Given the description of an element on the screen output the (x, y) to click on. 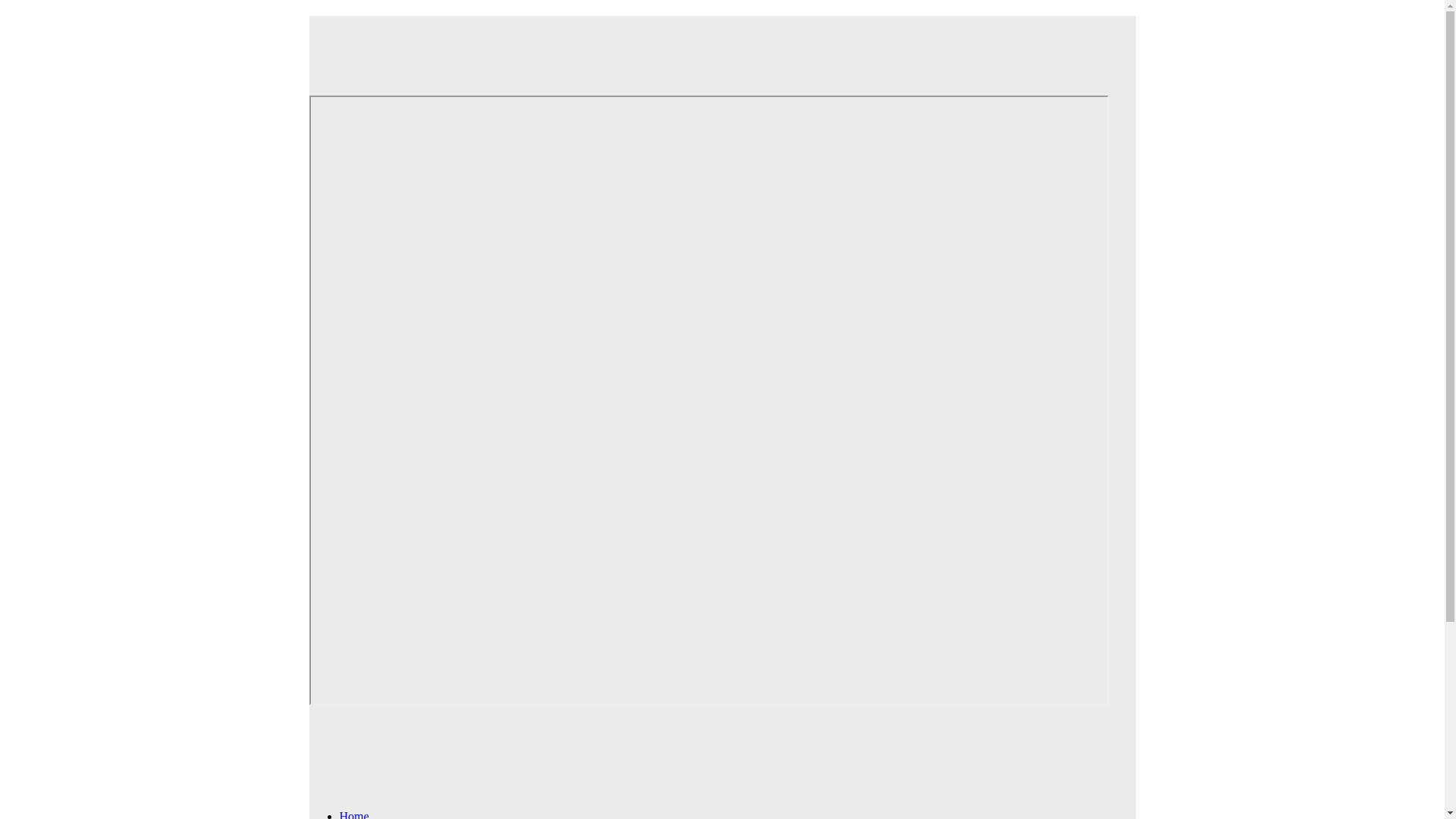
Web Hosting from Just Host Element type: text (707, 44)
